Given the description of an element on the screen output the (x, y) to click on. 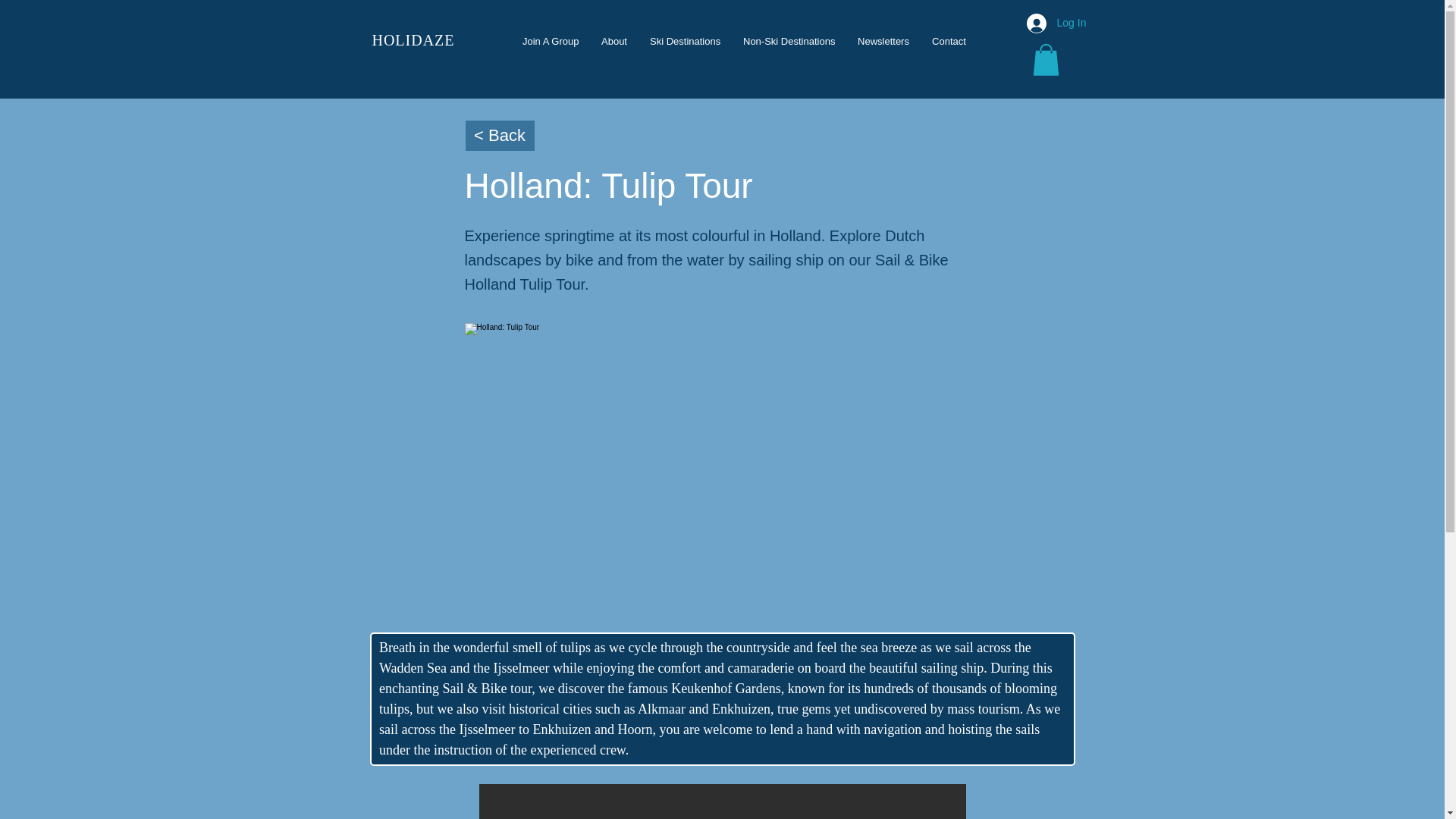
Ski Destinations (685, 41)
Newsletters (882, 41)
Log In (1045, 23)
Join A Group (550, 41)
HOLIDAZE (413, 40)
About (614, 41)
Non-Ski Destinations (788, 41)
Contact (948, 41)
